Given the description of an element on the screen output the (x, y) to click on. 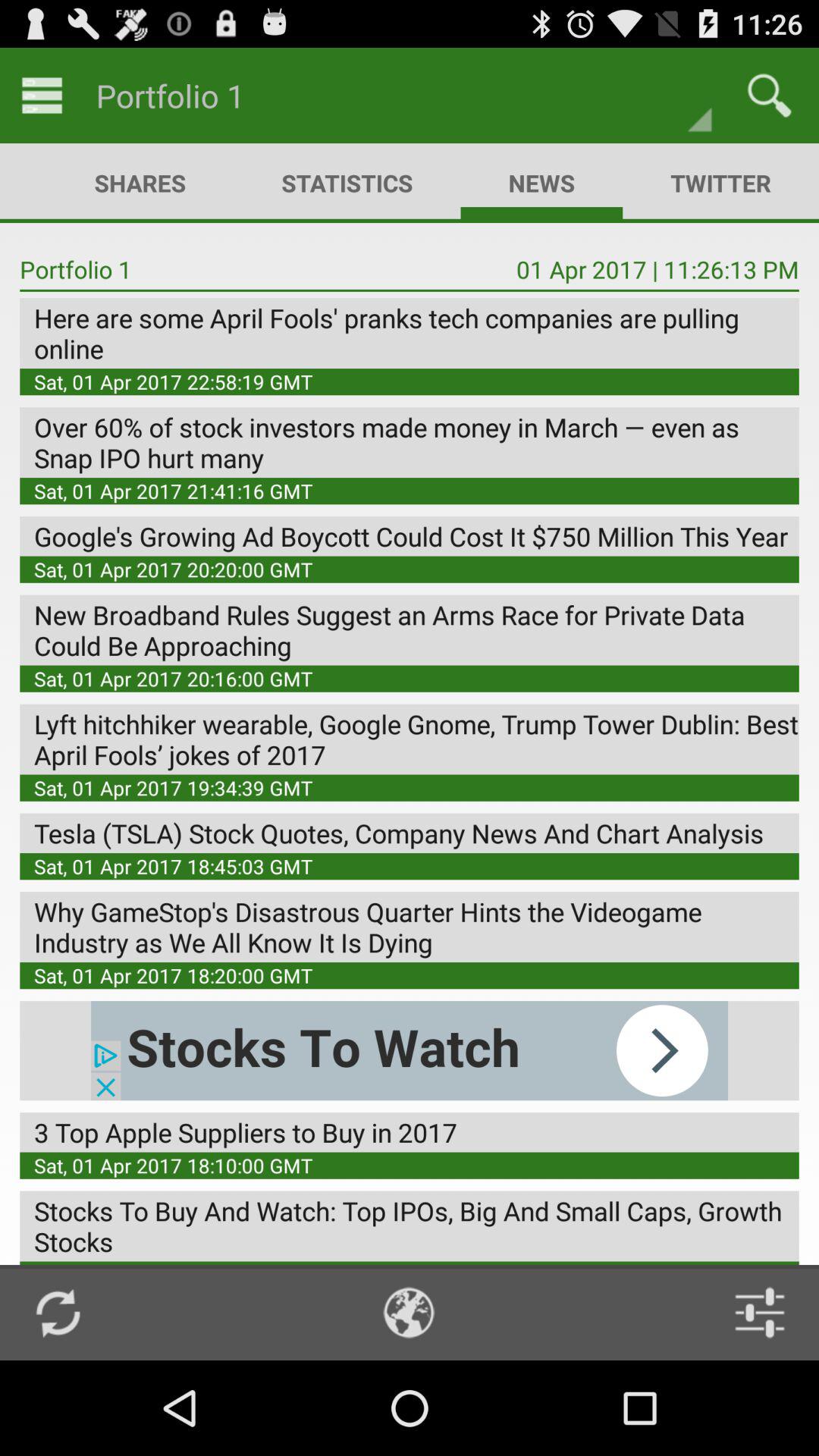
search textbox (769, 95)
